Given the description of an element on the screen output the (x, y) to click on. 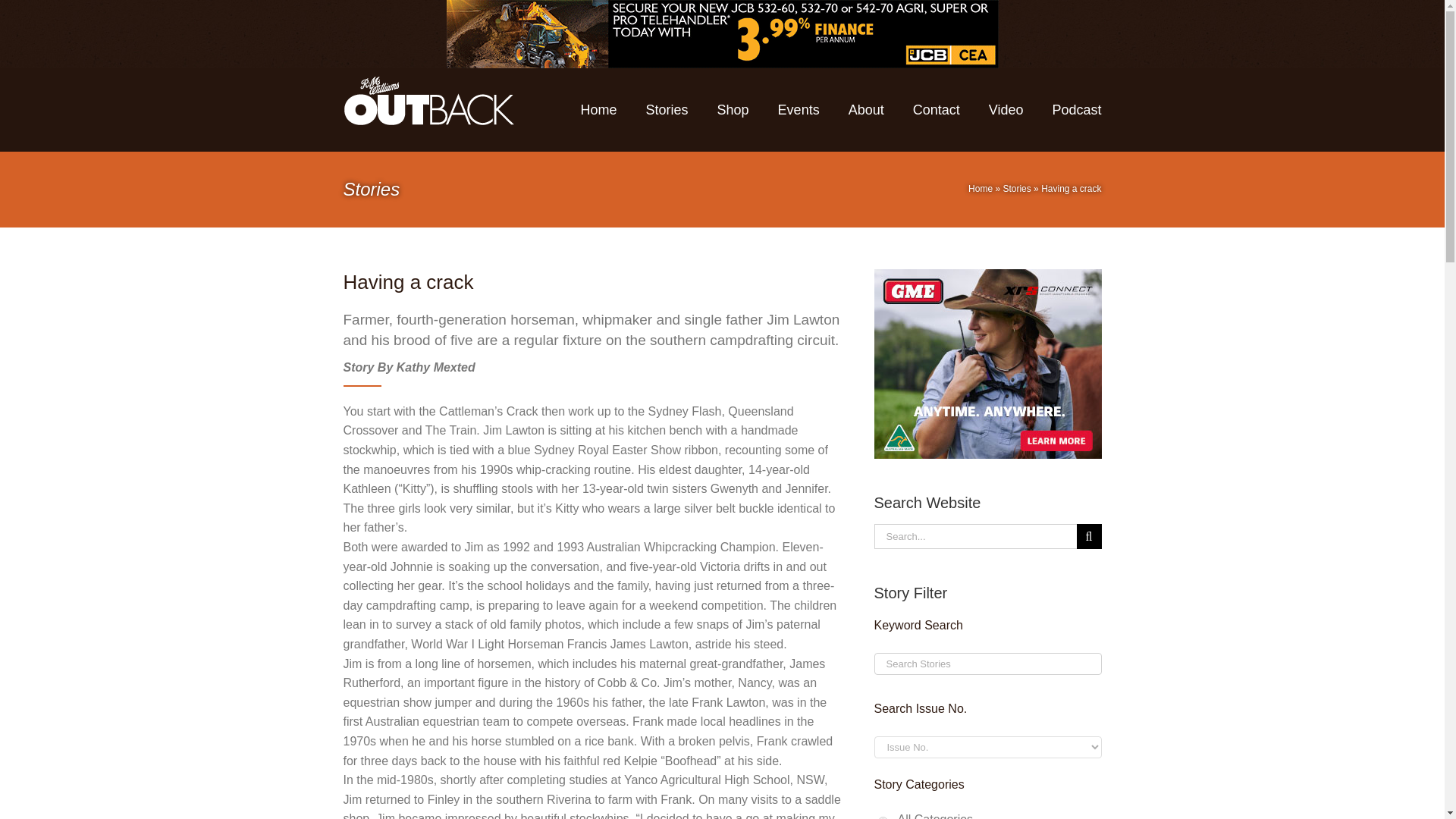
Shop (733, 109)
Video (1005, 109)
About (865, 109)
Events (798, 109)
Contact (935, 109)
Podcast (1075, 109)
Stories (667, 109)
Home (598, 109)
